Given the description of an element on the screen output the (x, y) to click on. 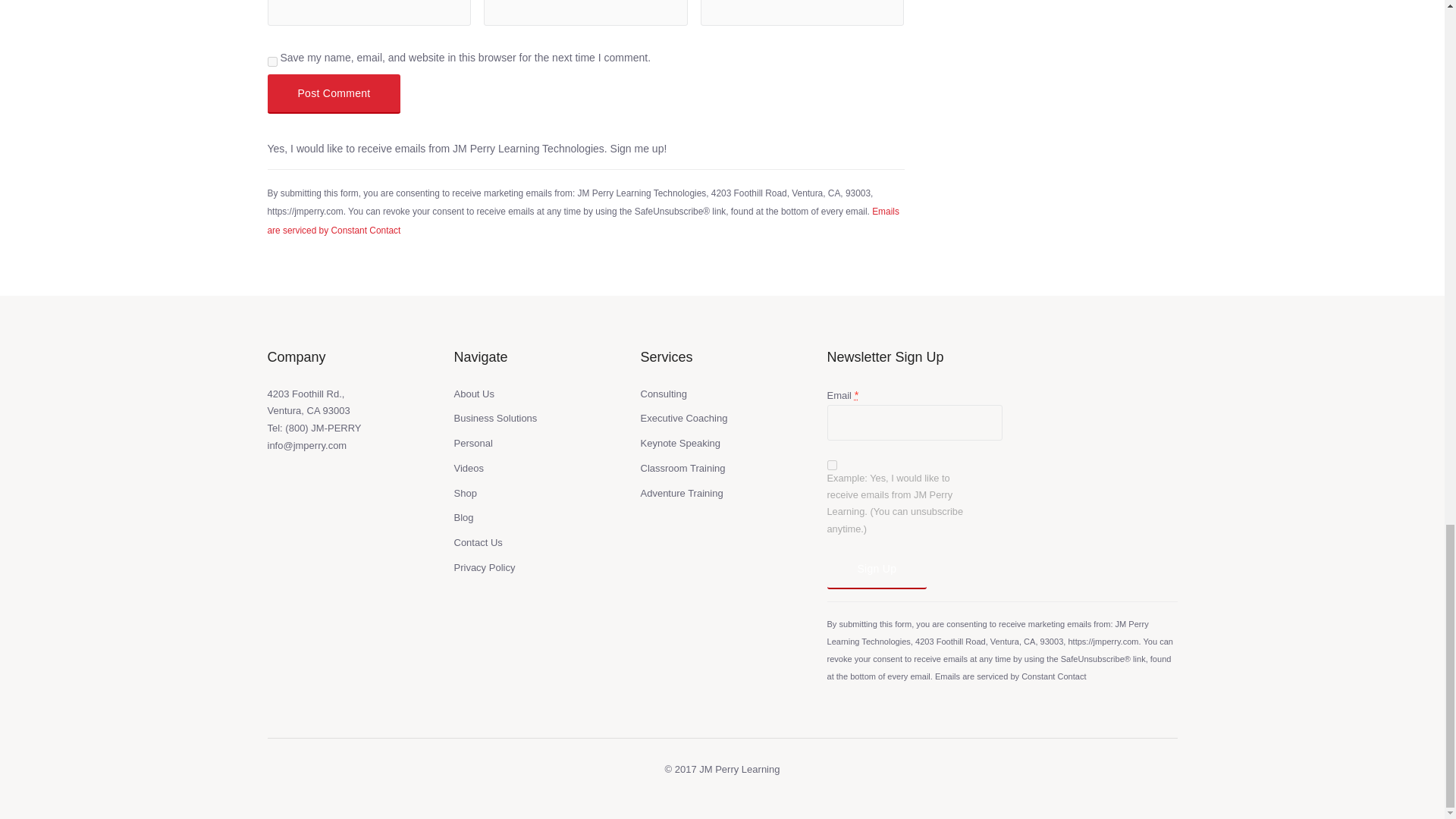
Post Comment (333, 93)
Sign Up (876, 568)
Emails are serviced by Constant Contact (582, 220)
1 (831, 465)
Post Comment (333, 93)
yes (271, 61)
